Given the description of an element on the screen output the (x, y) to click on. 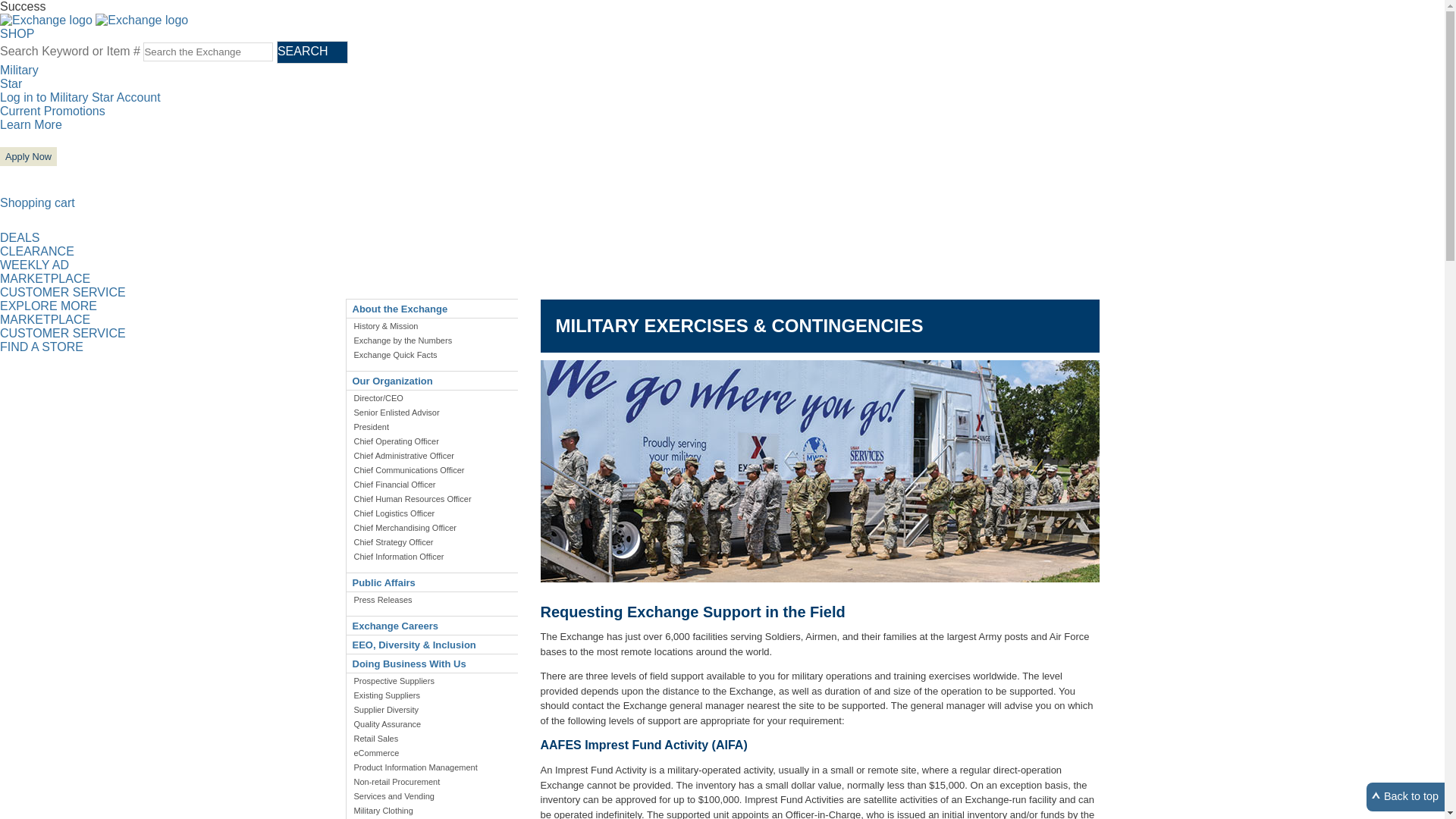
Current Promotions (52, 110)
CUSTOMER SERVICE (62, 332)
MARKETPLACE (45, 278)
Learn More (31, 124)
SEARCH (311, 51)
Shopping cart (37, 202)
EXPLORE MORE (48, 305)
Apply Now (28, 156)
CUSTOMER SERVICE (62, 291)
SHOP (16, 33)
